Given the description of an element on the screen output the (x, y) to click on. 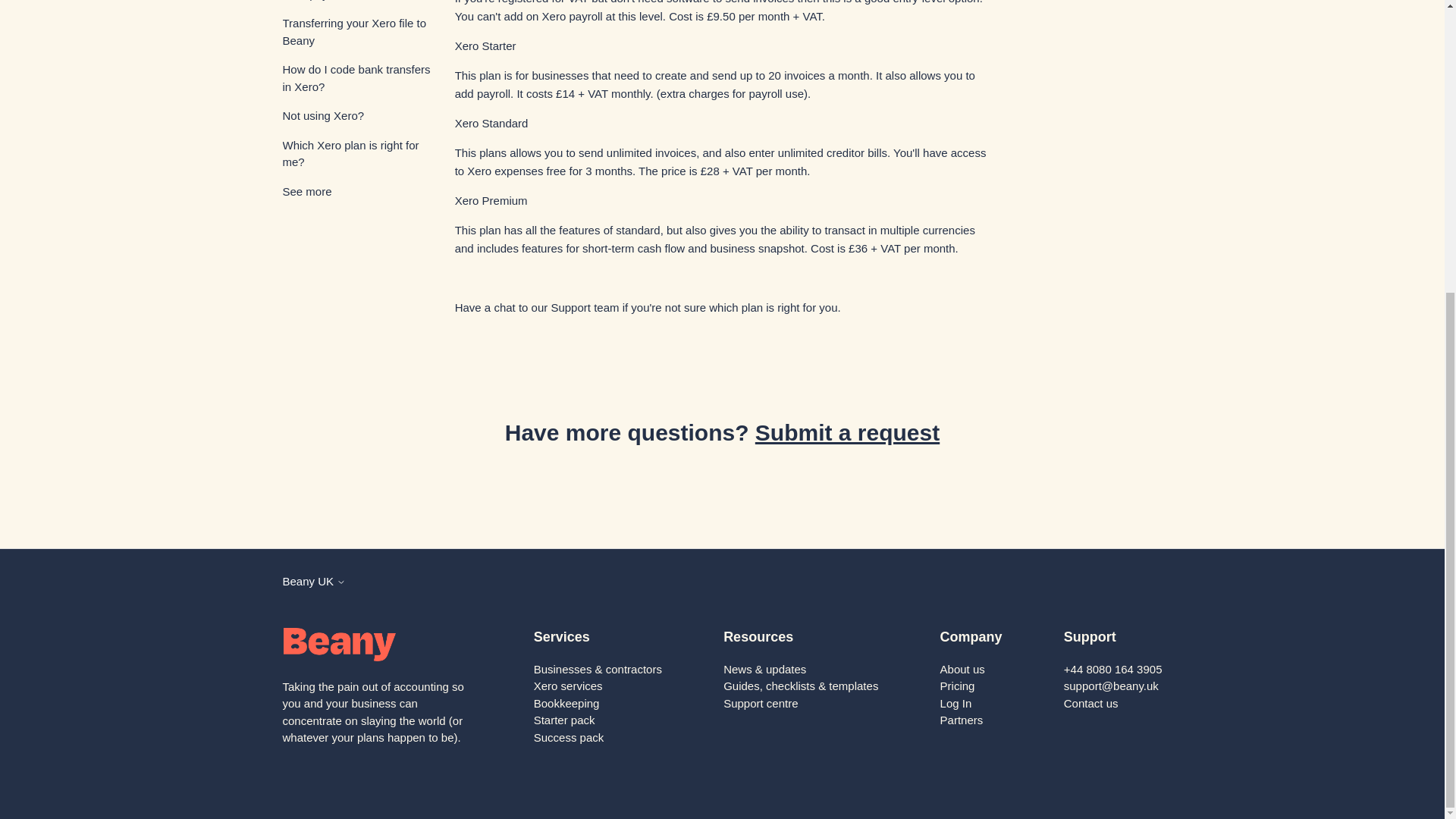
Transferring your Xero file to Beany (356, 32)
Starter pack (564, 719)
Xero services (568, 685)
Which Xero plan is right for me? (356, 153)
Granting Beany access to Xero payroll (356, 1)
See more (306, 191)
How do I code bank transfers in Xero? (356, 78)
Success pack (569, 737)
Beany UK (314, 581)
Not using Xero? (356, 116)
